Given the description of an element on the screen output the (x, y) to click on. 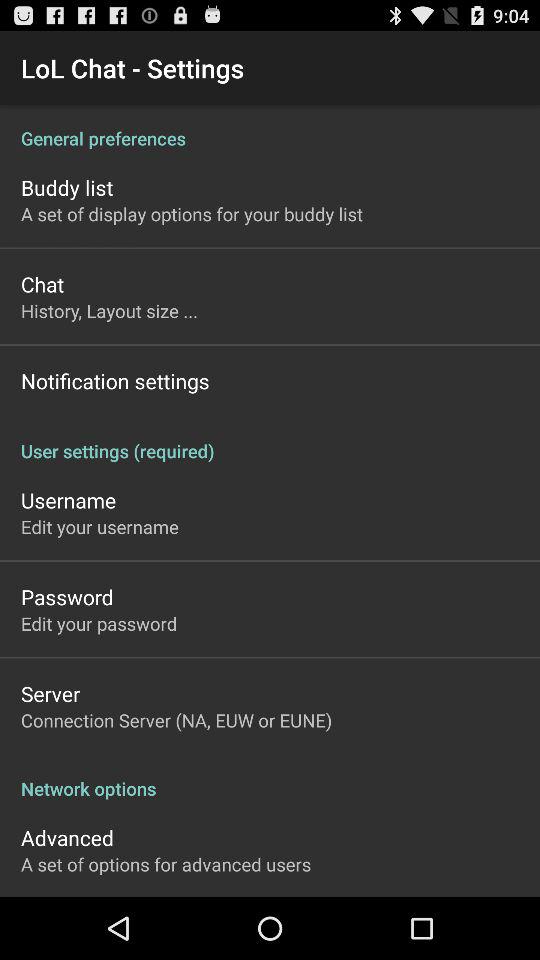
flip until the notification settings item (115, 380)
